Given the description of an element on the screen output the (x, y) to click on. 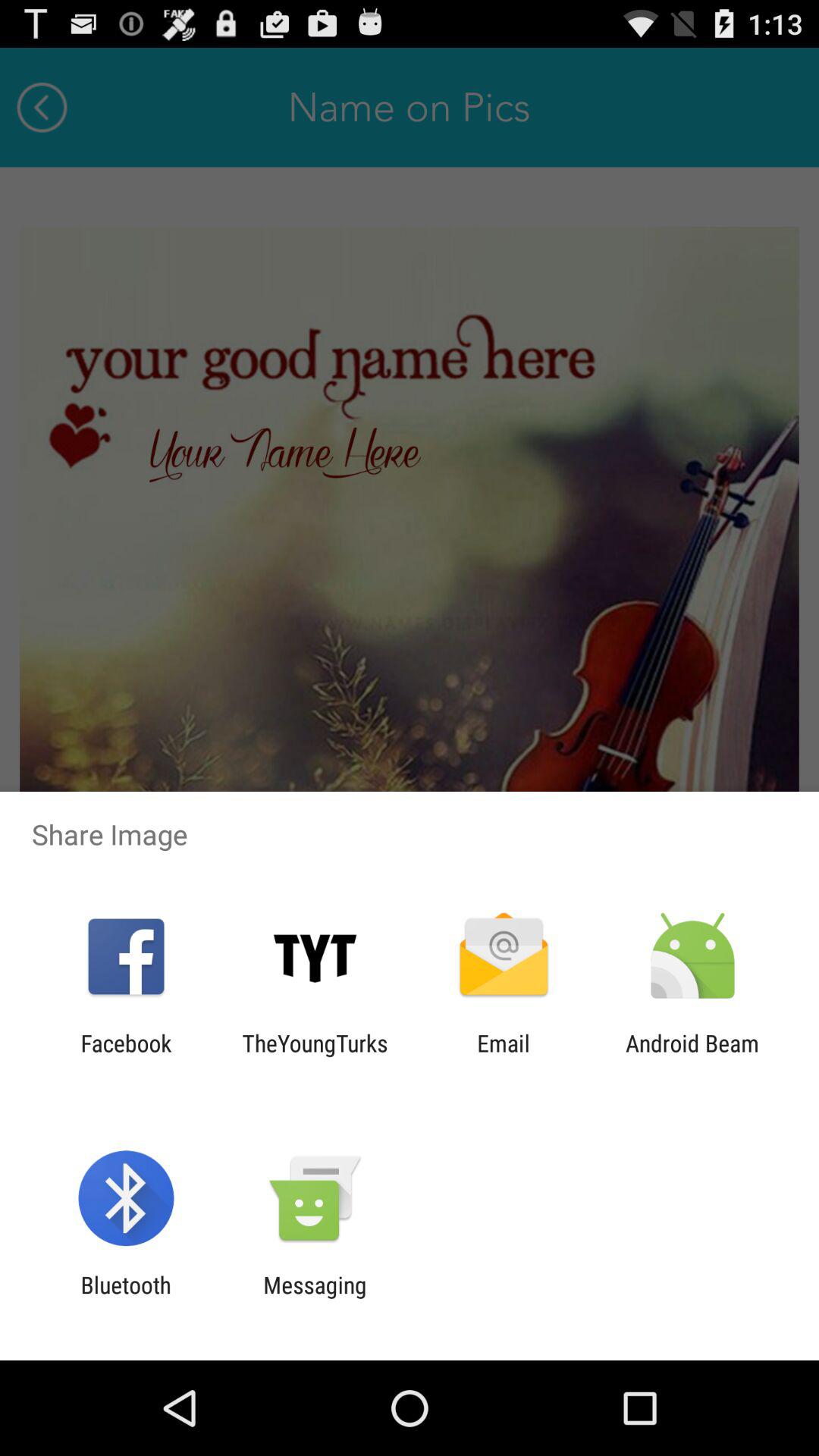
launch the theyoungturks item (314, 1056)
